Given the description of an element on the screen output the (x, y) to click on. 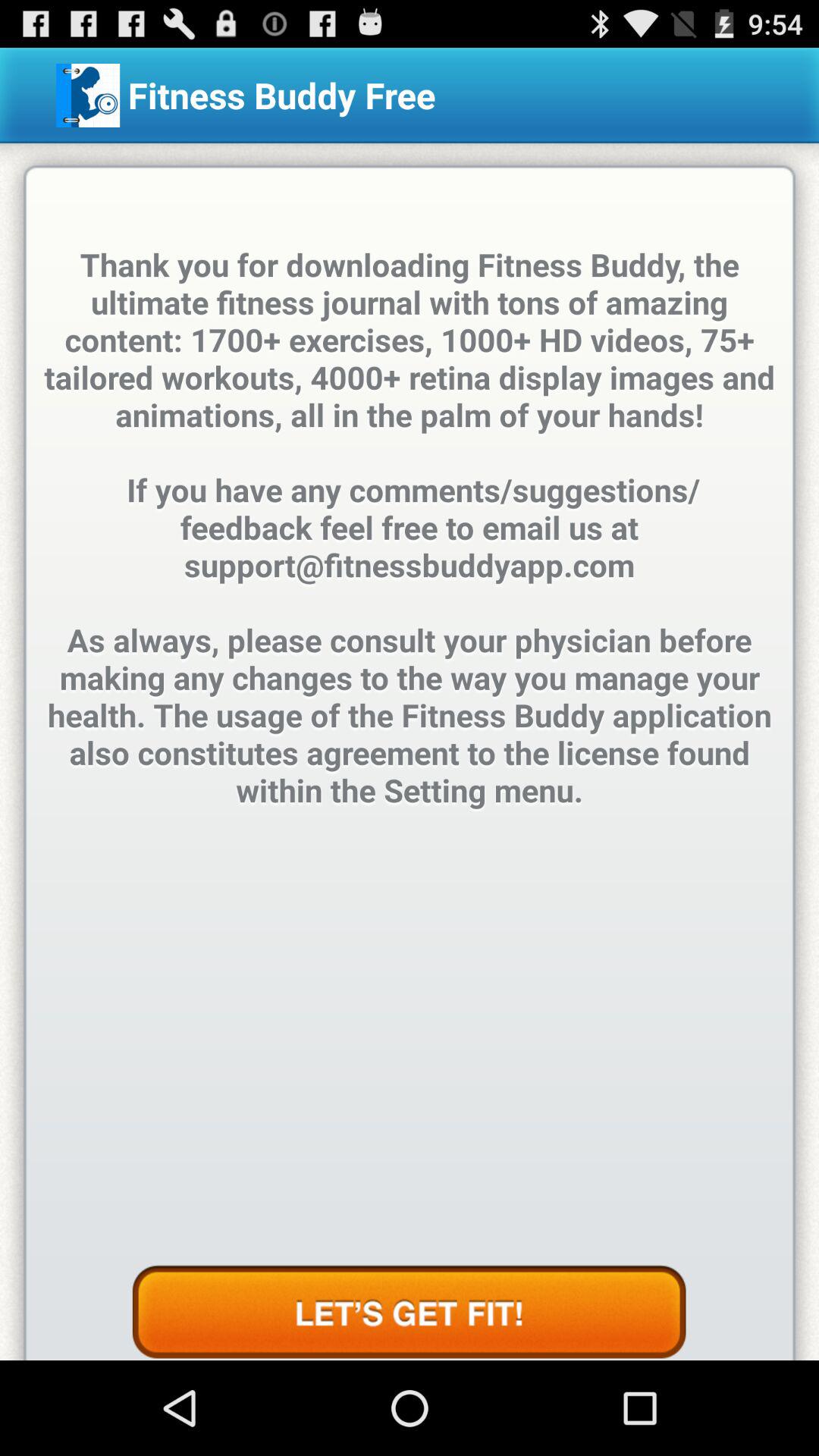
toggle activation (408, 1312)
